Given the description of an element on the screen output the (x, y) to click on. 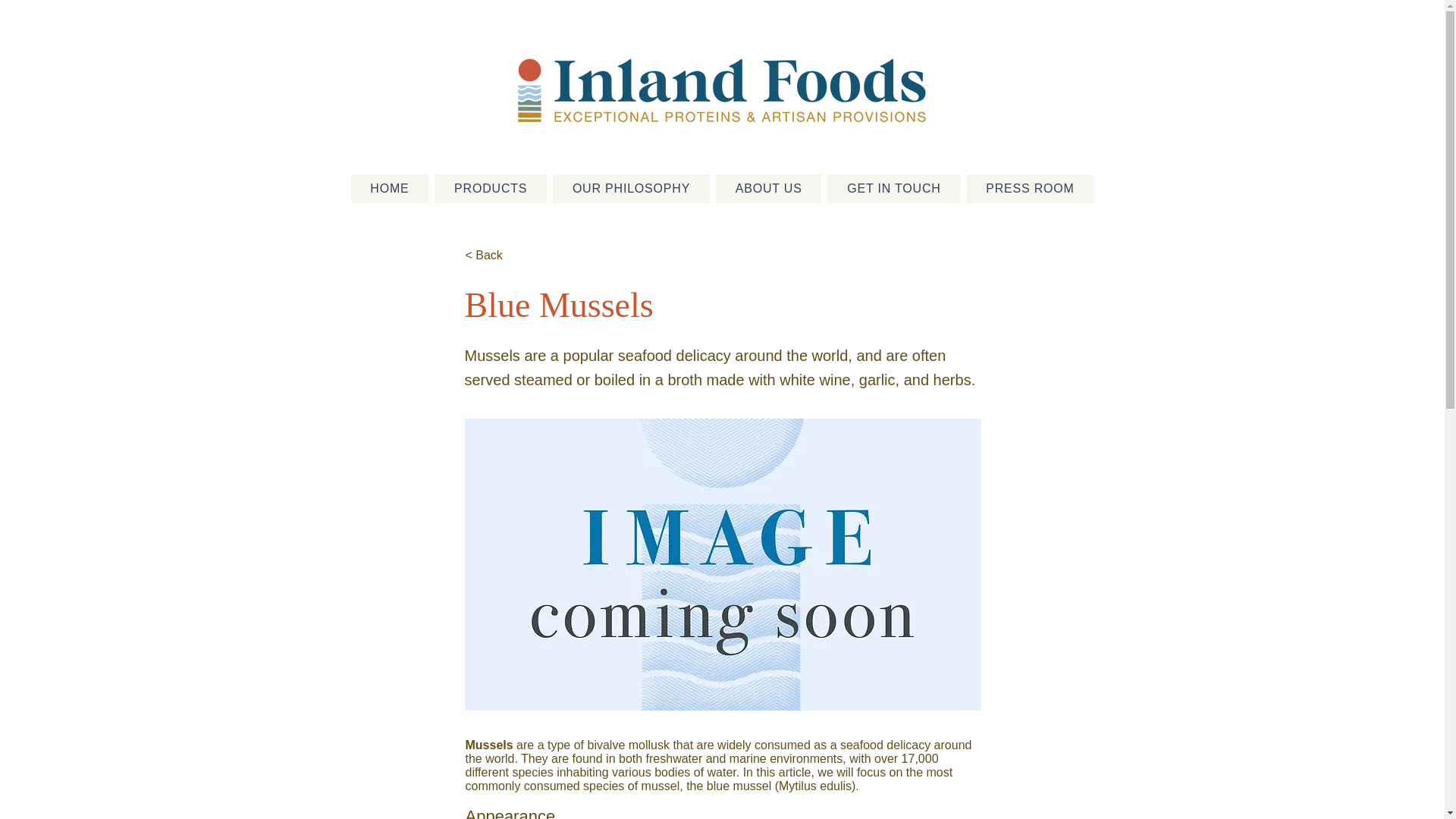
HOME (389, 188)
PRESS ROOM (1029, 188)
GET IN TOUCH (893, 188)
ABOUT US (769, 188)
PRODUCTS (490, 188)
OUR PHILOSOPHY (631, 188)
